Given the description of an element on the screen output the (x, y) to click on. 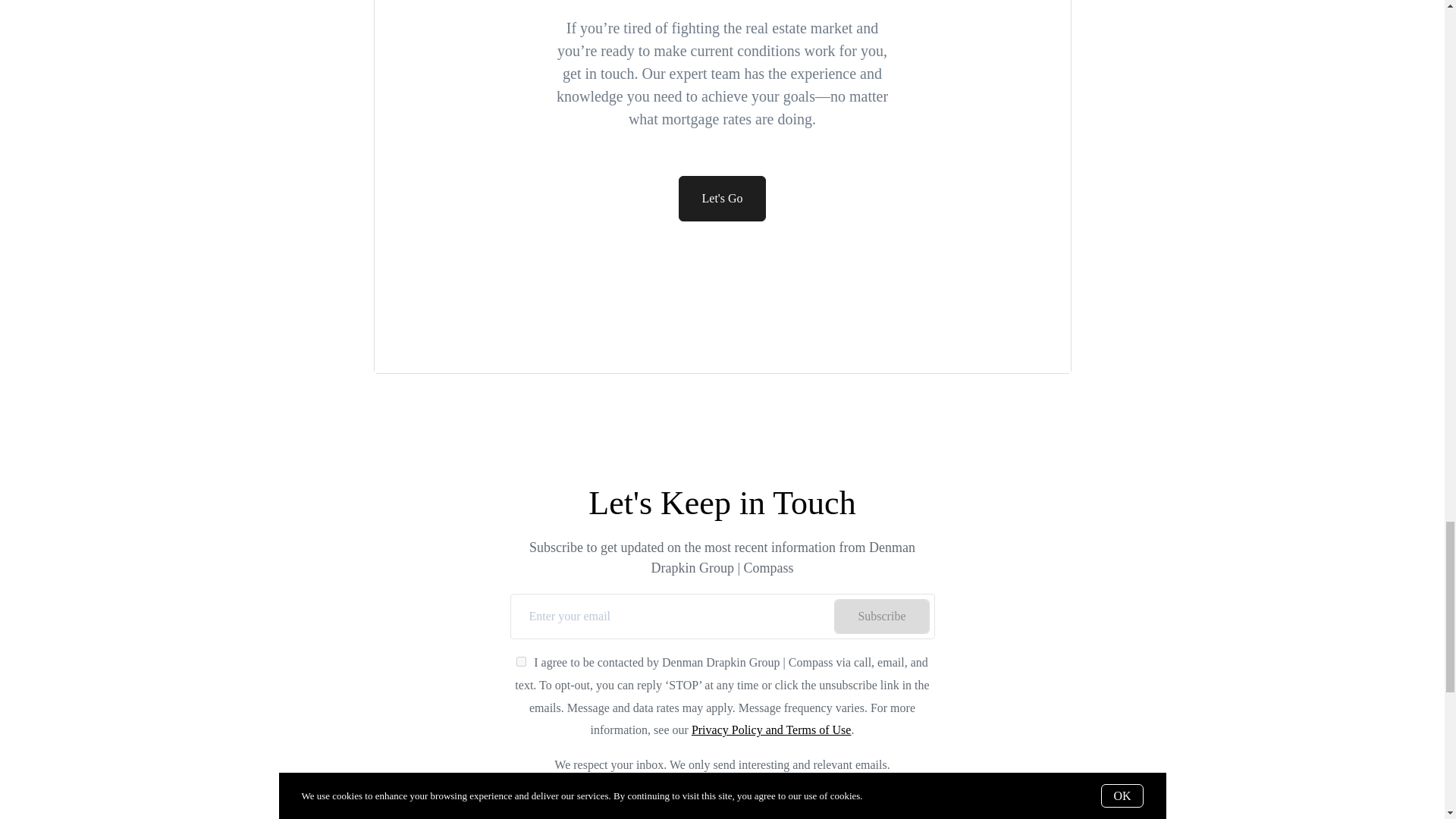
on (520, 661)
